Given the description of an element on the screen output the (x, y) to click on. 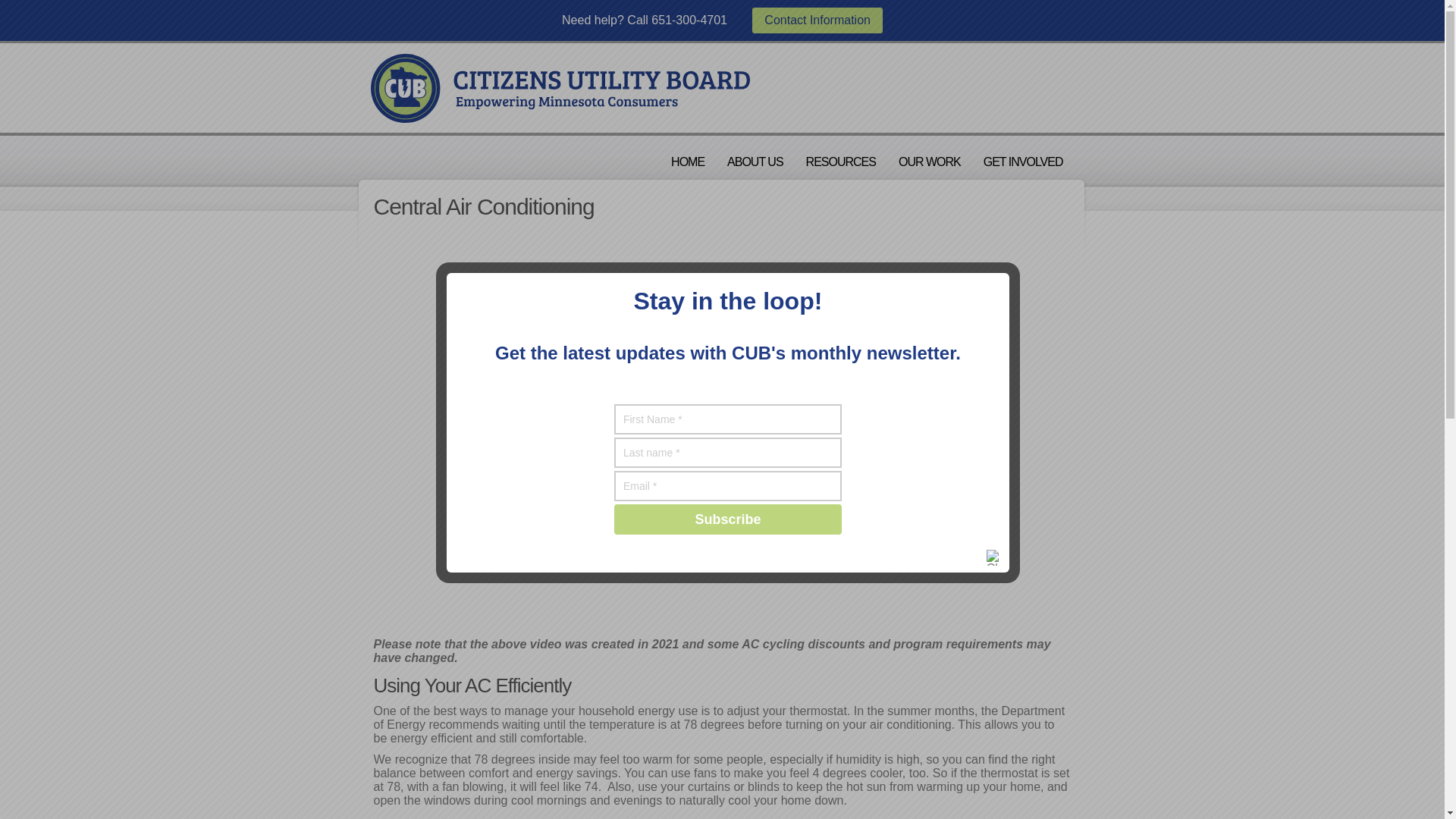
Contact Information (817, 20)
Close (995, 557)
Subscribe (727, 519)
OUR WORK (929, 161)
ABOUT US (755, 161)
651-300-4701 (688, 19)
GET INVOLVED (1023, 161)
HOME (687, 161)
Subscribe (727, 519)
RESOURCES (840, 161)
